Given the description of an element on the screen output the (x, y) to click on. 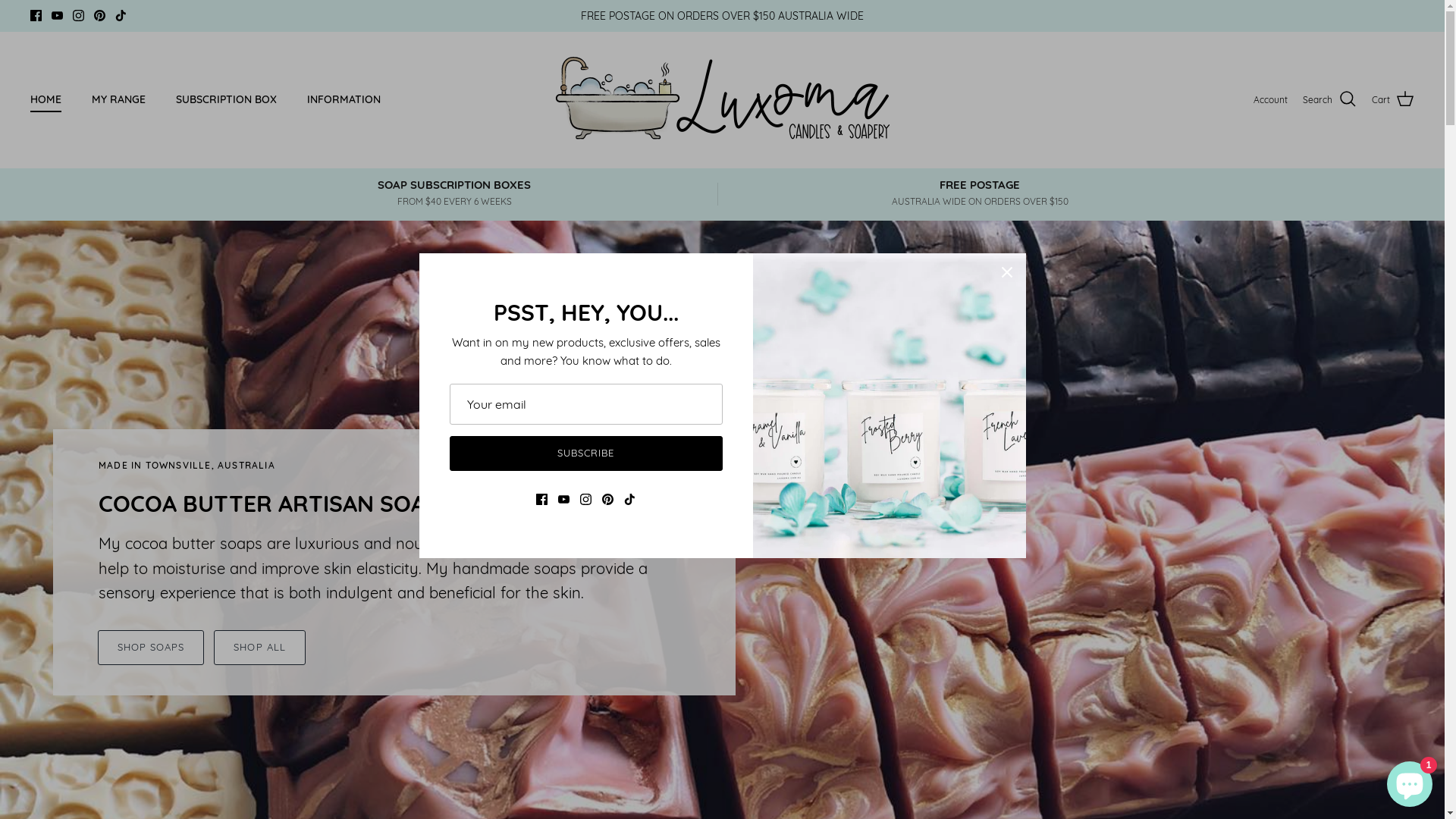
Shopify online store chat Element type: hover (1409, 780)
HOME Element type: text (45, 99)
Cart Element type: text (1392, 99)
Account Element type: text (1270, 99)
SUBSCRIBE Element type: text (584, 453)
SHOP SOAPS Element type: text (150, 647)
Pinterest Element type: text (99, 15)
INFORMATION Element type: text (343, 99)
MY RANGE Element type: text (118, 99)
SOAP SUBSCRIPTION BOXES
FROM $40 EVERY 6 WEEKS Element type: text (453, 192)
SHOP ALL Element type: text (258, 647)
Search Element type: text (1329, 99)
Instagram Element type: text (78, 15)
Youtube Element type: text (56, 15)
Luxoma Element type: hover (721, 99)
Facebook Element type: text (35, 15)
SUBSCRIPTION BOX Element type: text (226, 99)
